Given the description of an element on the screen output the (x, y) to click on. 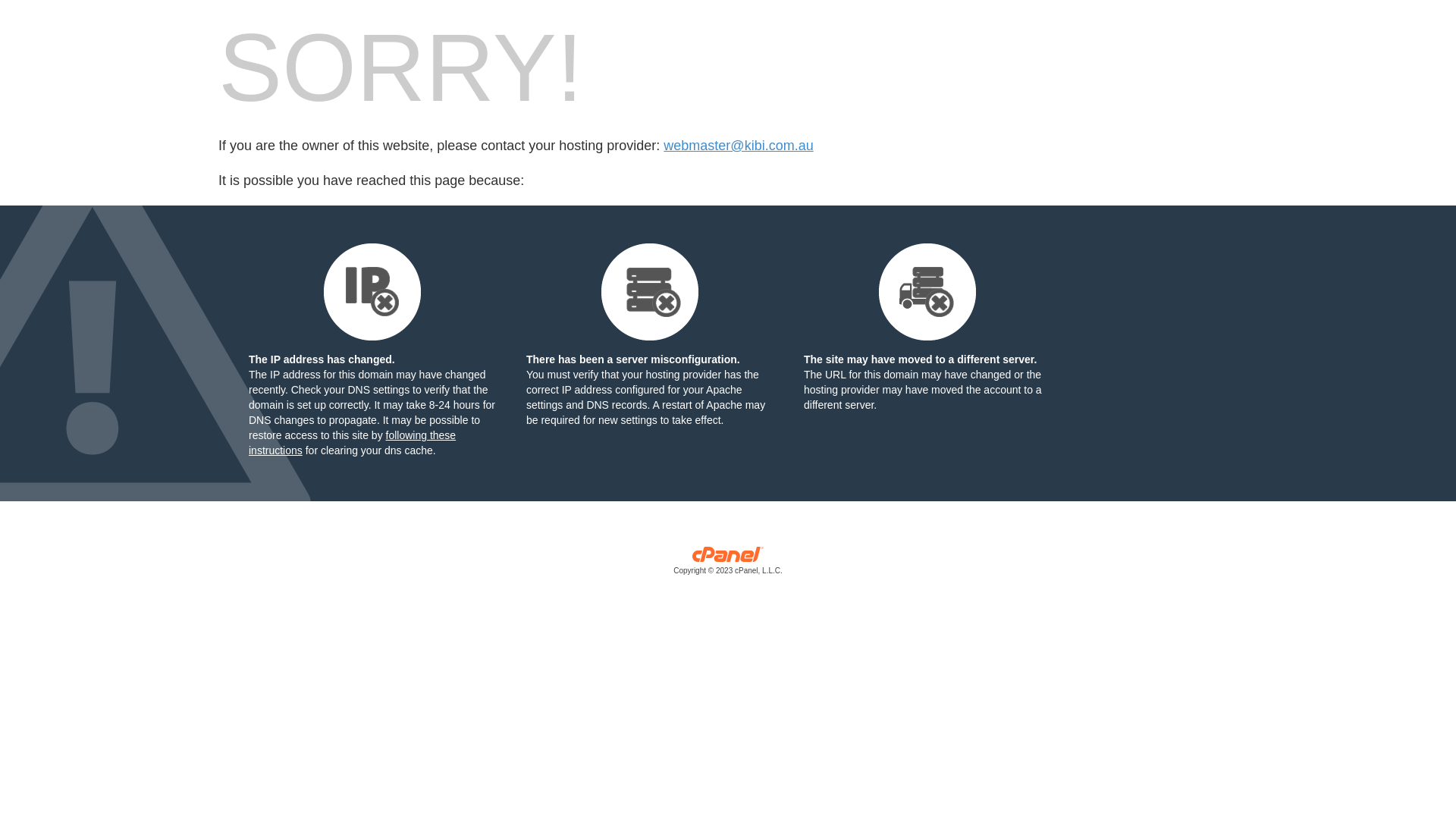
webmaster@kibi.com.au Element type: text (737, 145)
following these instructions Element type: text (351, 442)
